Given the description of an element on the screen output the (x, y) to click on. 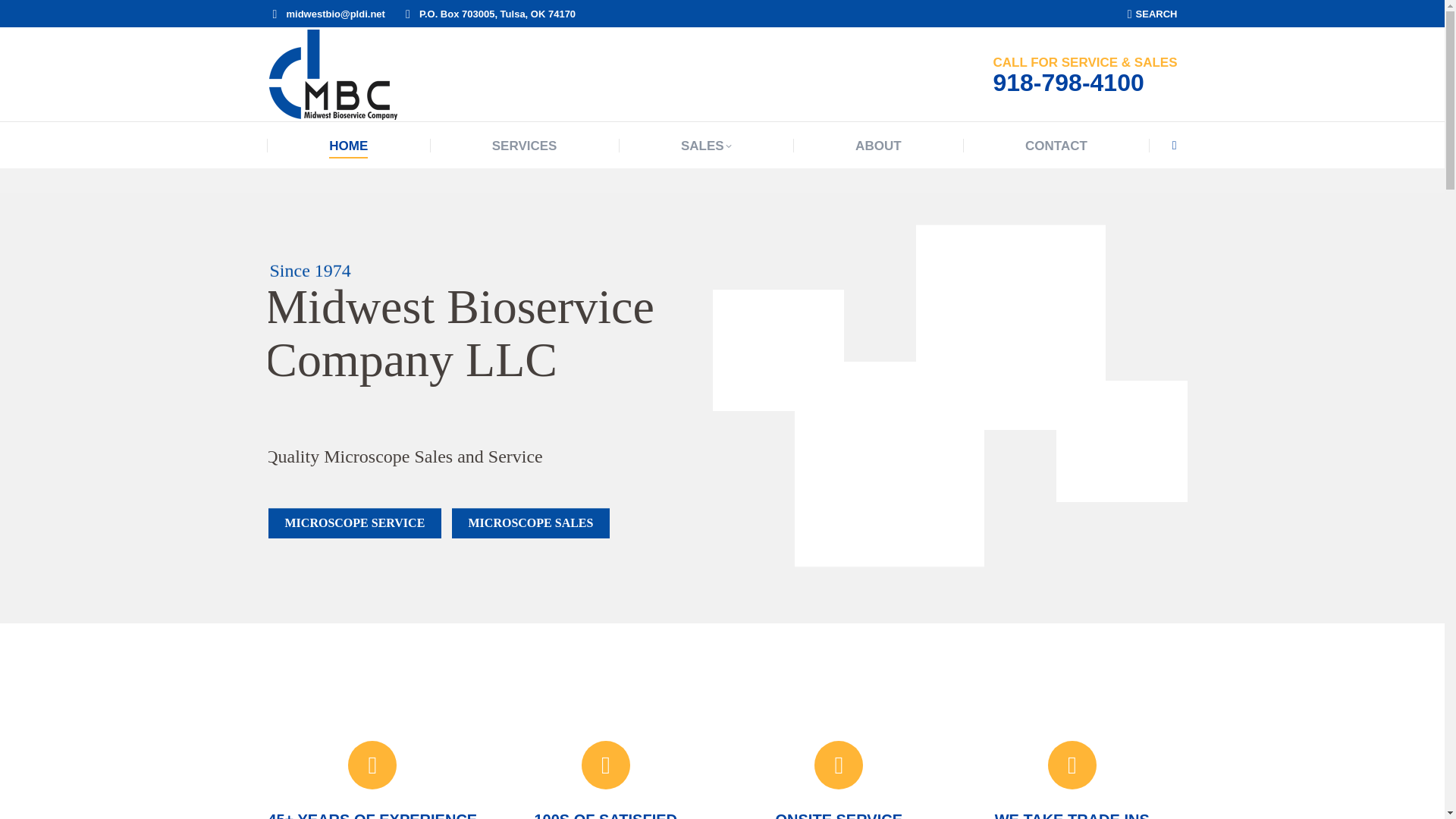
ABOUT (878, 146)
CONTACT (1056, 146)
HOME (348, 146)
SERVICES (524, 146)
SALES (706, 146)
SEARCH (1151, 12)
Go! (25, 15)
